Given the description of an element on the screen output the (x, y) to click on. 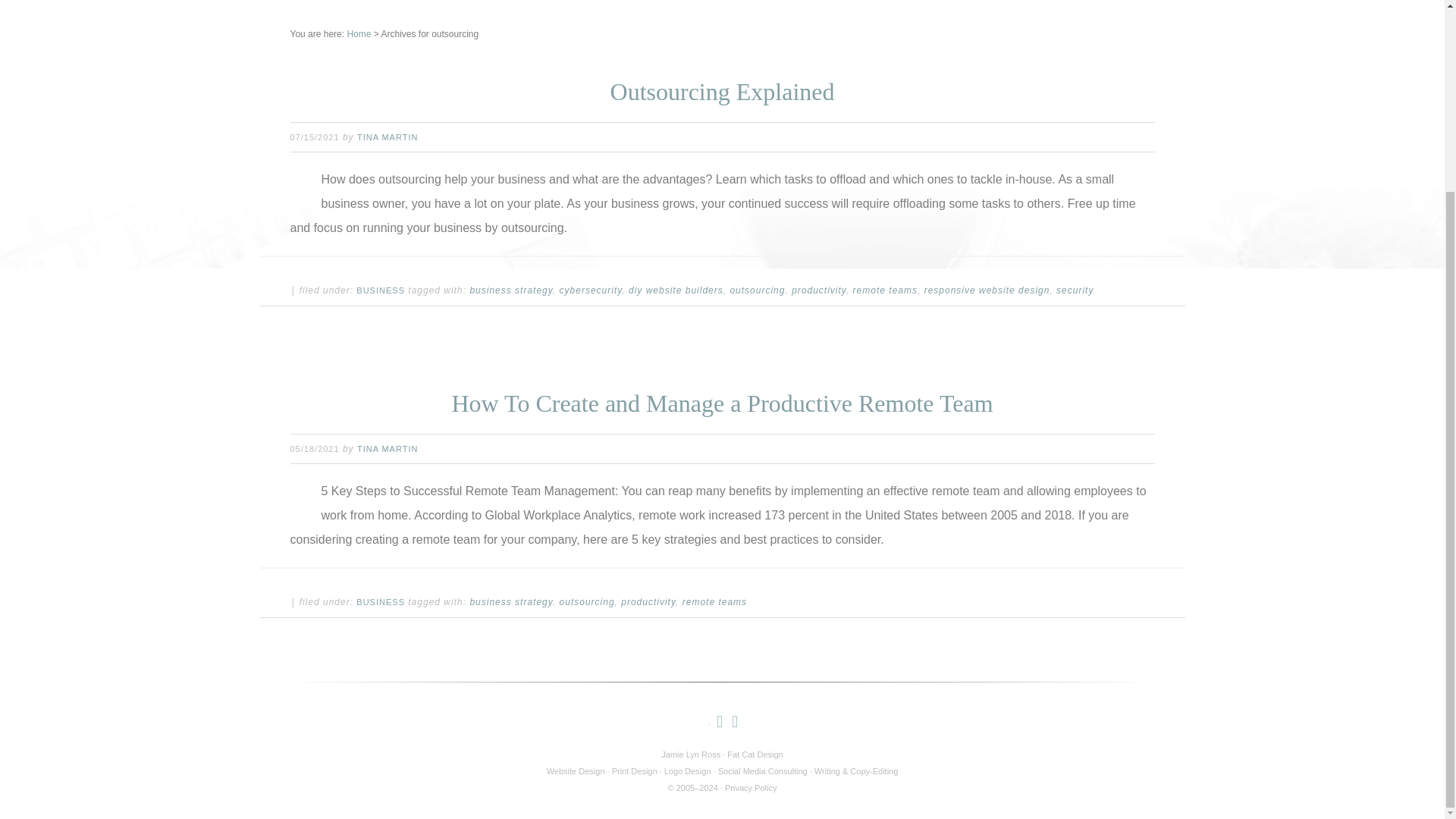
BUSINESS (380, 290)
Outsourcing Explained (722, 91)
diy website builders (675, 290)
cybersecurity (591, 290)
responsive website design (986, 290)
productivity (818, 290)
remote teams (885, 290)
Home (358, 33)
How To Create and Manage a Productive Remote Team (721, 403)
outsourcing (756, 290)
security (1075, 290)
TINA MARTIN (386, 448)
business strategy (510, 290)
TINA MARTIN (386, 137)
